Given the description of an element on the screen output the (x, y) to click on. 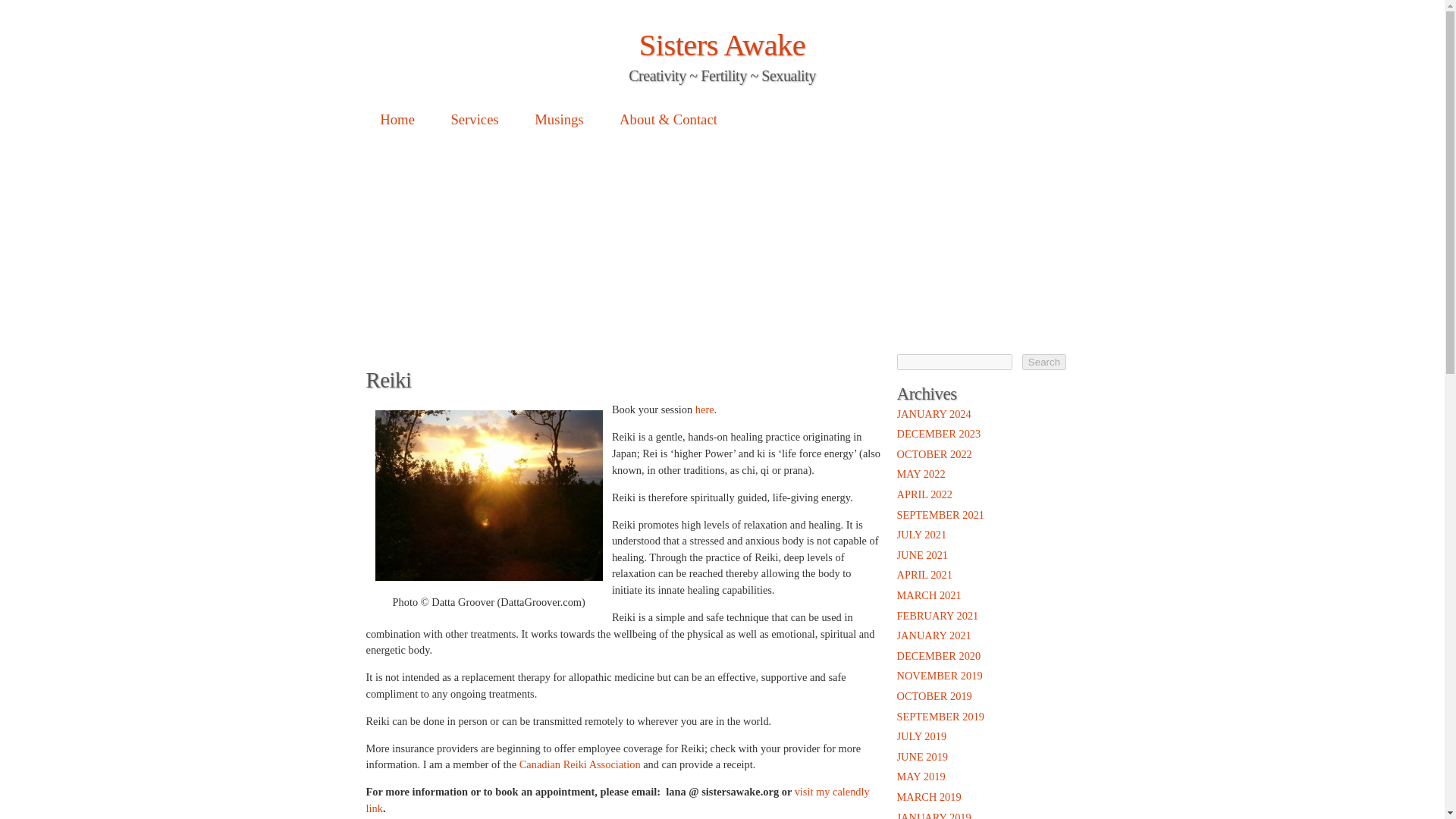
MAY 2022 (920, 473)
JULY 2019 (921, 736)
Services (474, 119)
JUNE 2019 (921, 756)
Sisters Awake (722, 44)
SEPTEMBER 2019 (940, 716)
OCTOBER 2022 (933, 453)
SEPTEMBER 2021 (940, 514)
APRIL 2022 (924, 494)
here (704, 409)
Search (1043, 361)
Canadian Reiki Association (579, 764)
OCTOBER 2019 (933, 695)
MARCH 2021 (928, 594)
MAY 2019 (920, 776)
